Given the description of an element on the screen output the (x, y) to click on. 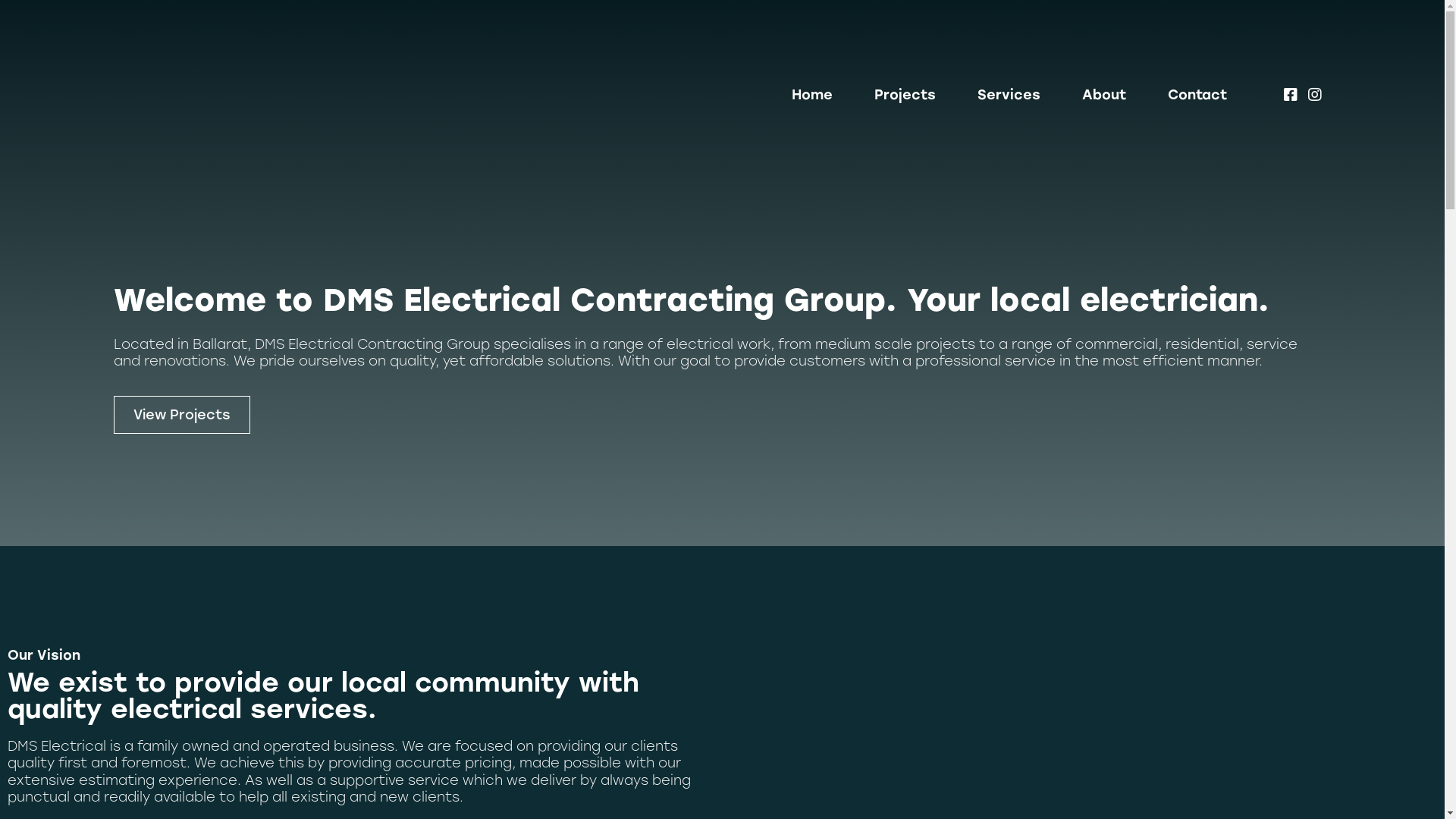
Home Element type: text (811, 94)
Contact Element type: text (1197, 94)
Projects Element type: text (904, 94)
View Projects Element type: text (181, 414)
Services Element type: text (1008, 94)
About Element type: text (1103, 94)
